Given the description of an element on the screen output the (x, y) to click on. 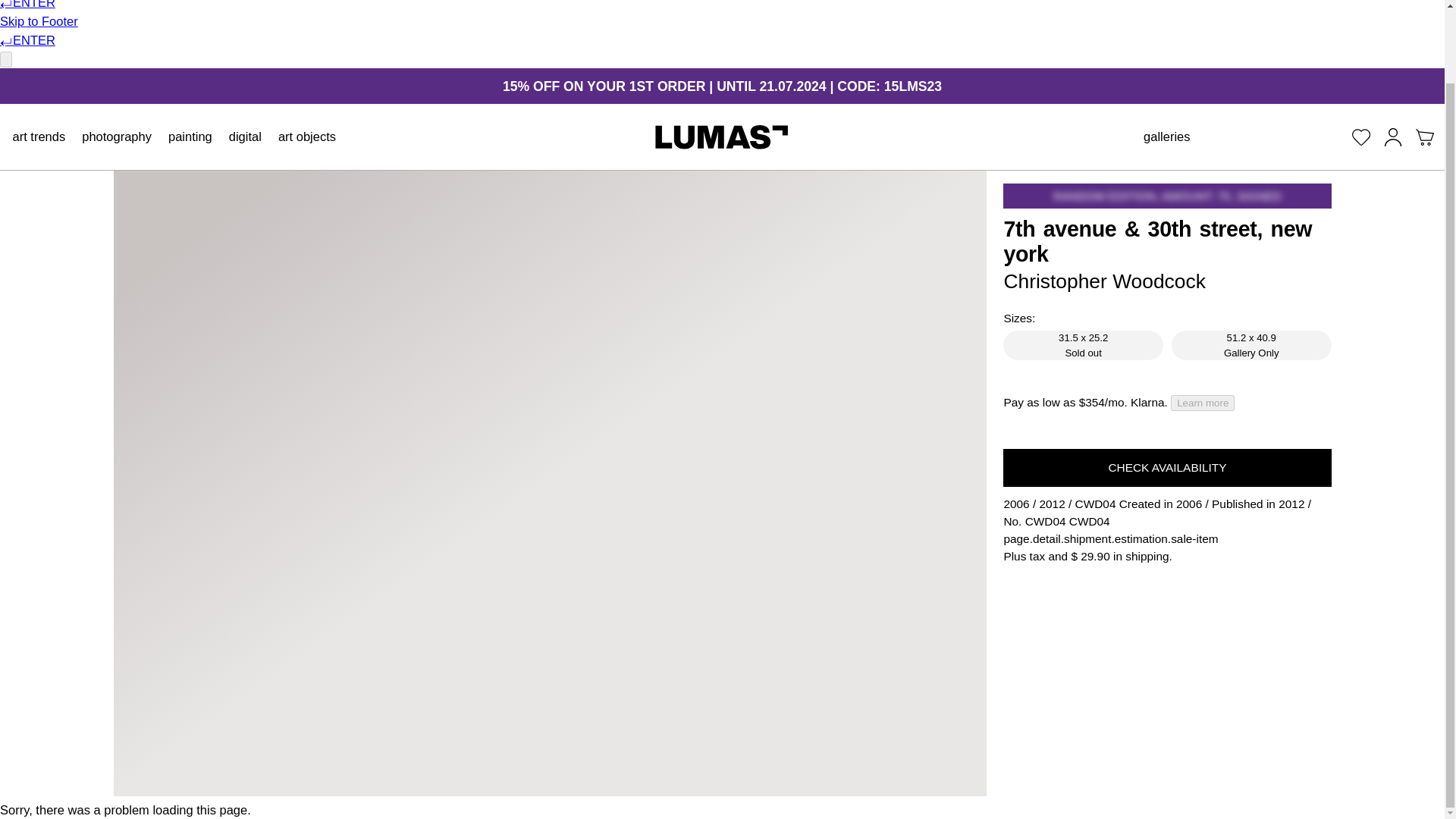
Galleries Near You (1165, 136)
Log In (1392, 136)
Date of publication (1051, 503)
Date of origin (1016, 503)
